Given the description of an element on the screen output the (x, y) to click on. 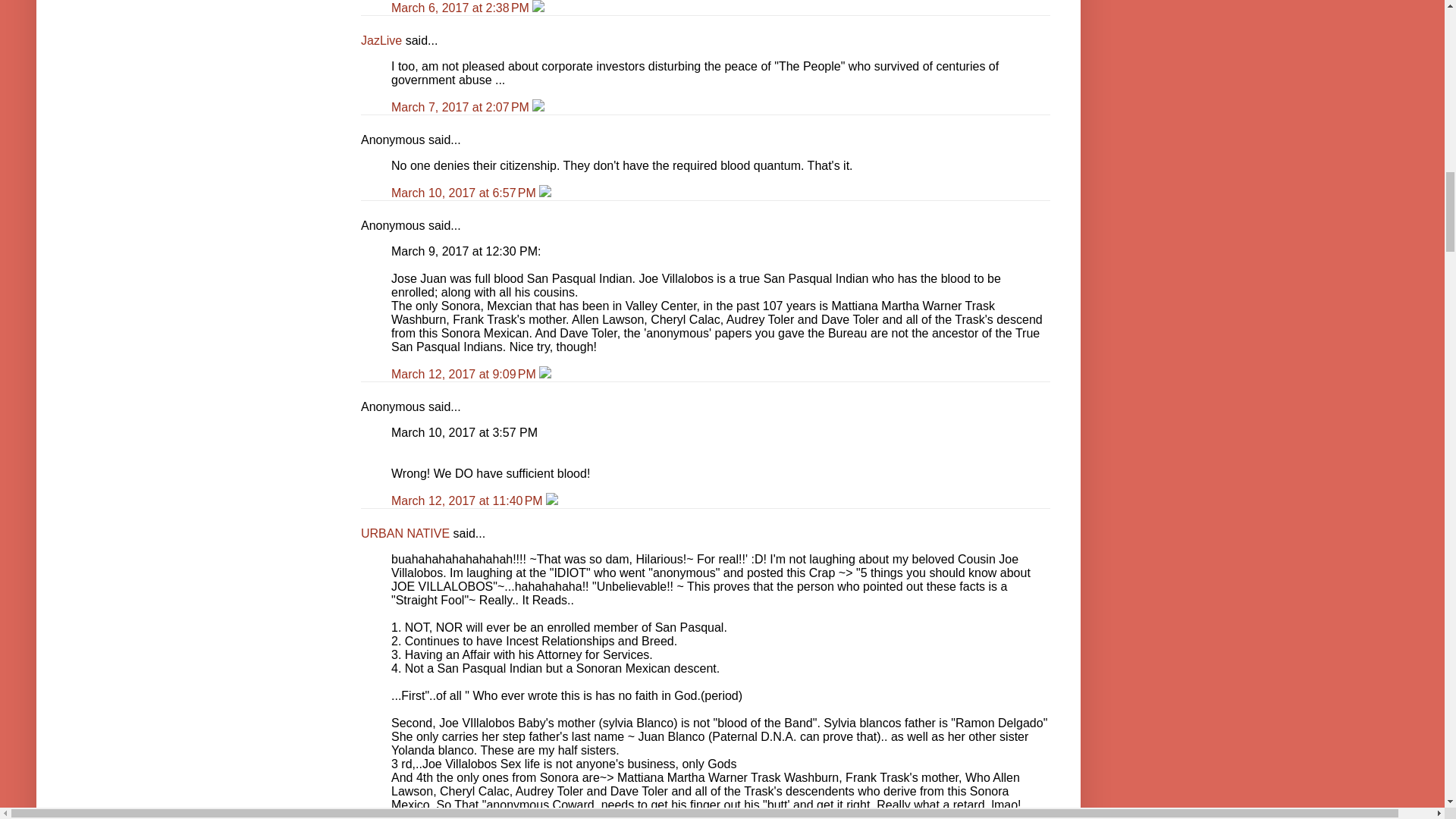
Delete Comment (538, 106)
Delete Comment (538, 7)
JazLive (381, 40)
comment permalink (461, 7)
comment permalink (461, 106)
